Given the description of an element on the screen output the (x, y) to click on. 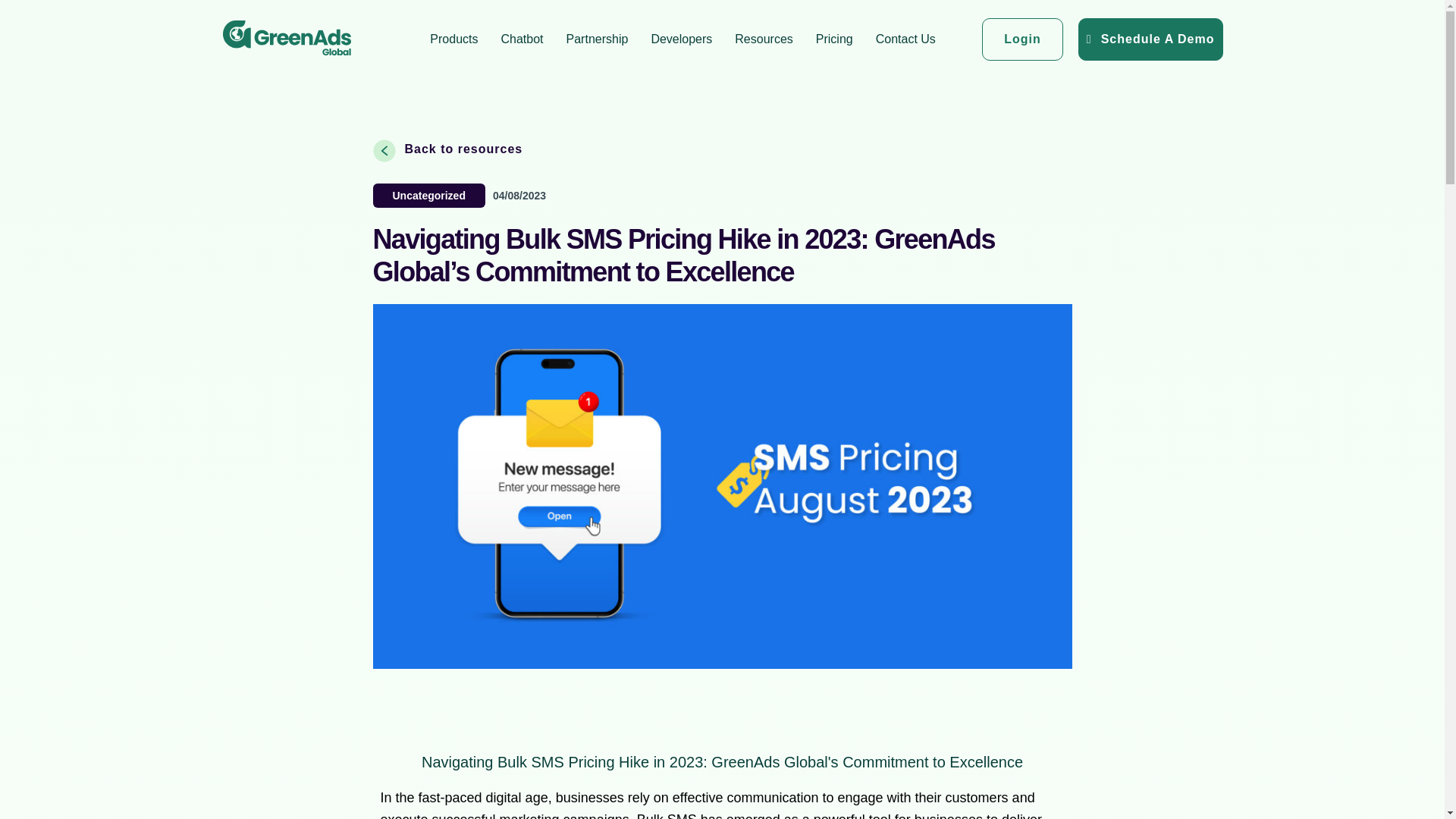
Back to resources (447, 153)
Chatbot (521, 38)
Products (454, 38)
Contact Us (905, 38)
Developers (681, 38)
Schedule A Demo (1150, 39)
Pricing (834, 38)
Login (1021, 39)
Uncategorized (429, 195)
Resources (763, 38)
Partnership (597, 38)
